Given the description of an element on the screen output the (x, y) to click on. 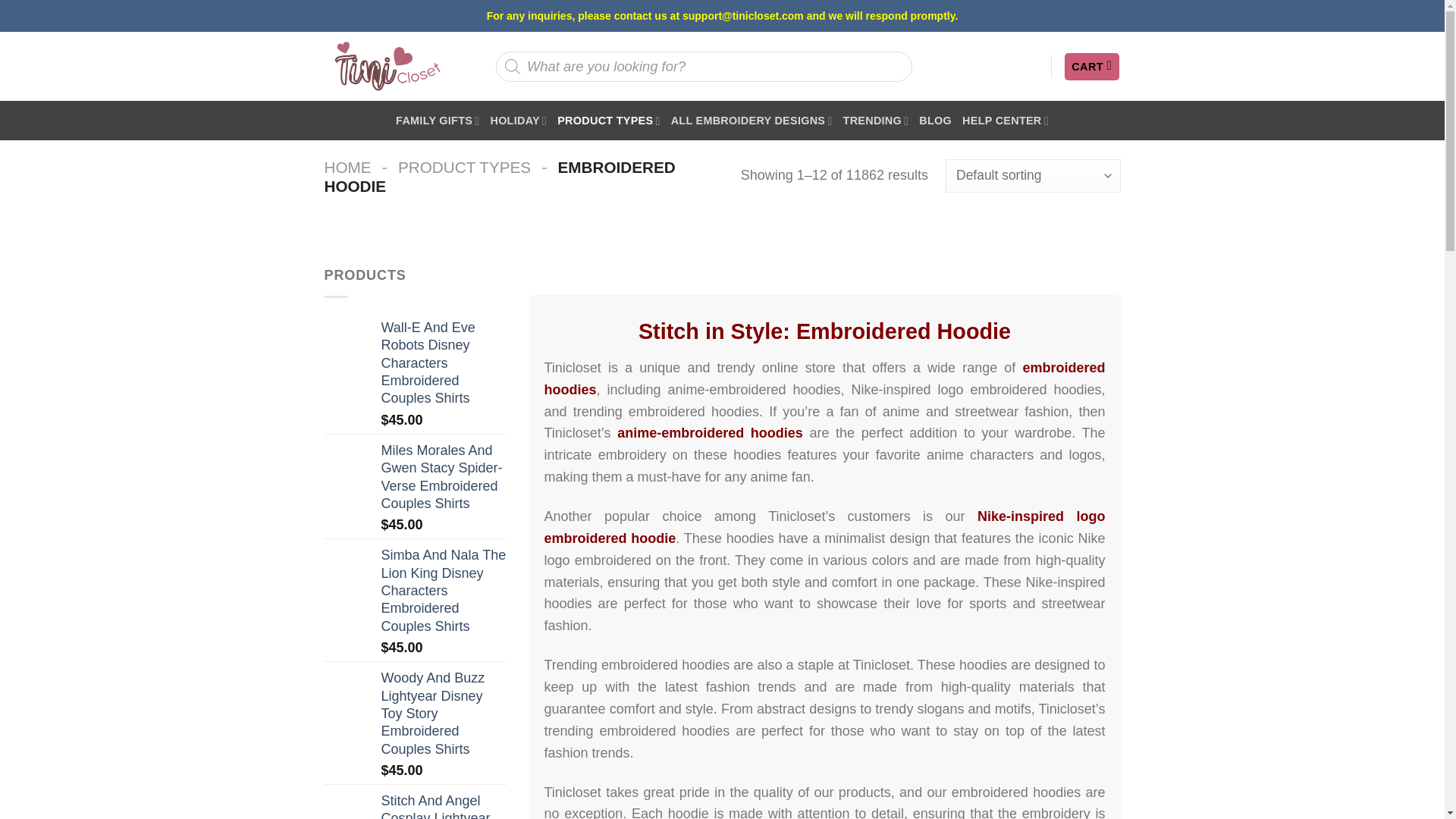
CART (1091, 67)
PRODUCT TYPES (608, 120)
HOLIDAY (518, 120)
FAMILY GIFTS (437, 120)
ALL EMBROIDERY DESIGNS (751, 120)
Cart (1091, 67)
